Given the description of an element on the screen output the (x, y) to click on. 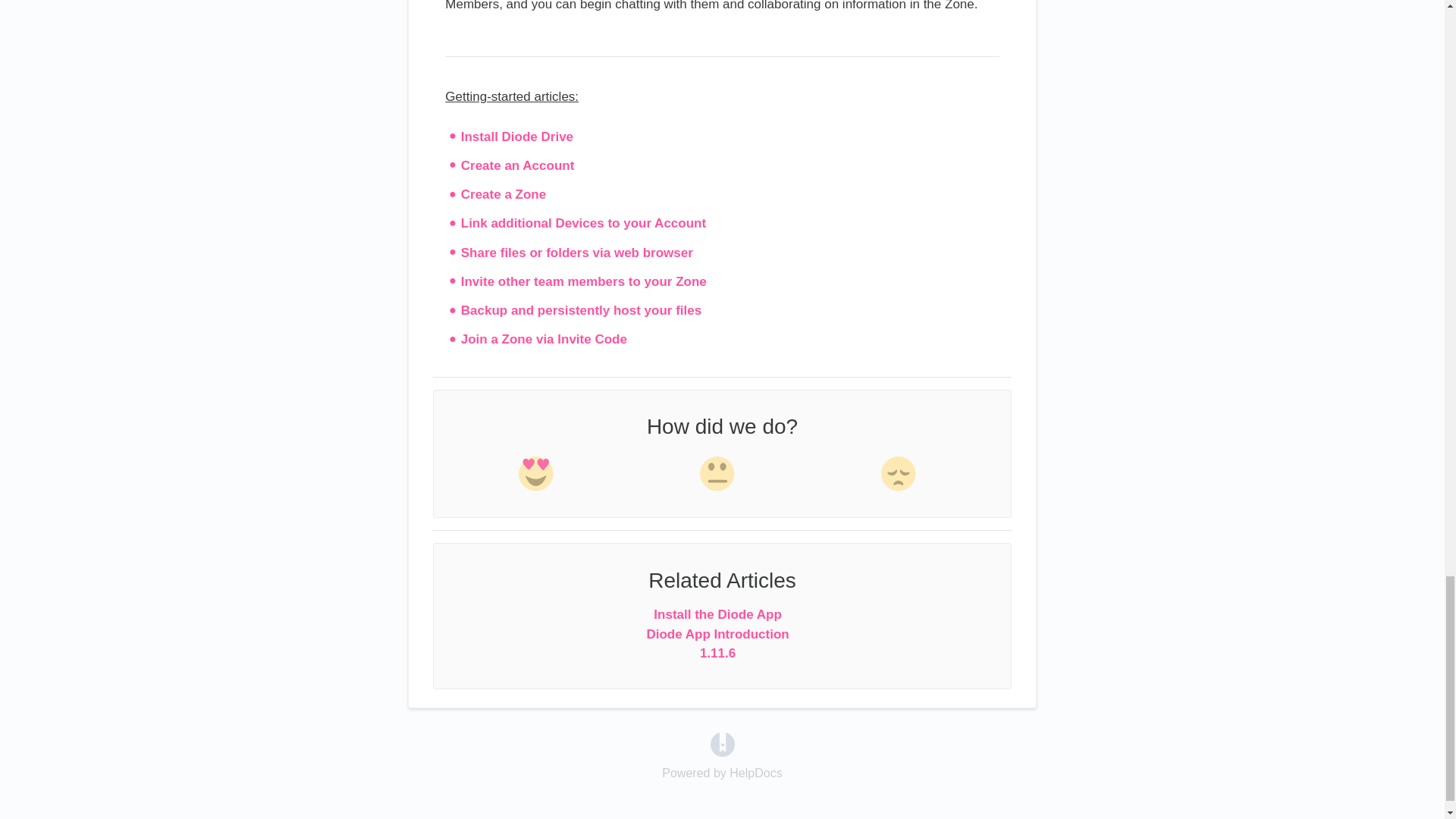
Invite other team members to your Zone (583, 281)
Join a Zone via Invite Code (544, 339)
Link additional Devices to your Account (583, 223)
Create a Zone (503, 194)
Powered by HelpDocs (721, 743)
Powered by HelpDocs (721, 772)
1.11.6 (717, 653)
Backup and persistently host your files (581, 310)
Install Diode Drive (517, 136)
Diode App Introduction (717, 634)
Create an Account (518, 165)
Install the Diode App (716, 614)
Share files or folders via web browser (577, 252)
